Given the description of an element on the screen output the (x, y) to click on. 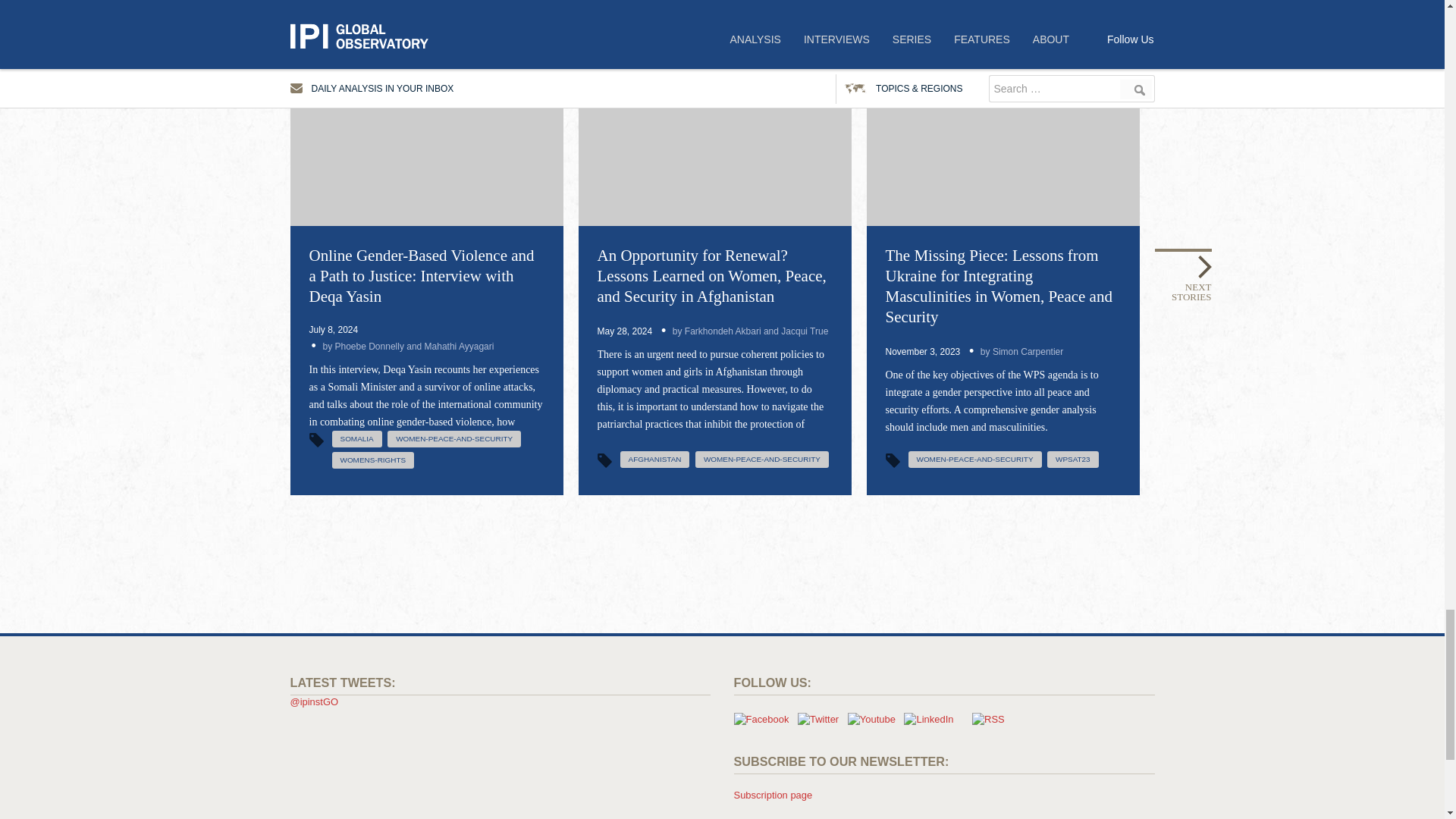
women peace and security (761, 459)
women peace and security (454, 438)
women peace and security (975, 459)
